Given the description of an element on the screen output the (x, y) to click on. 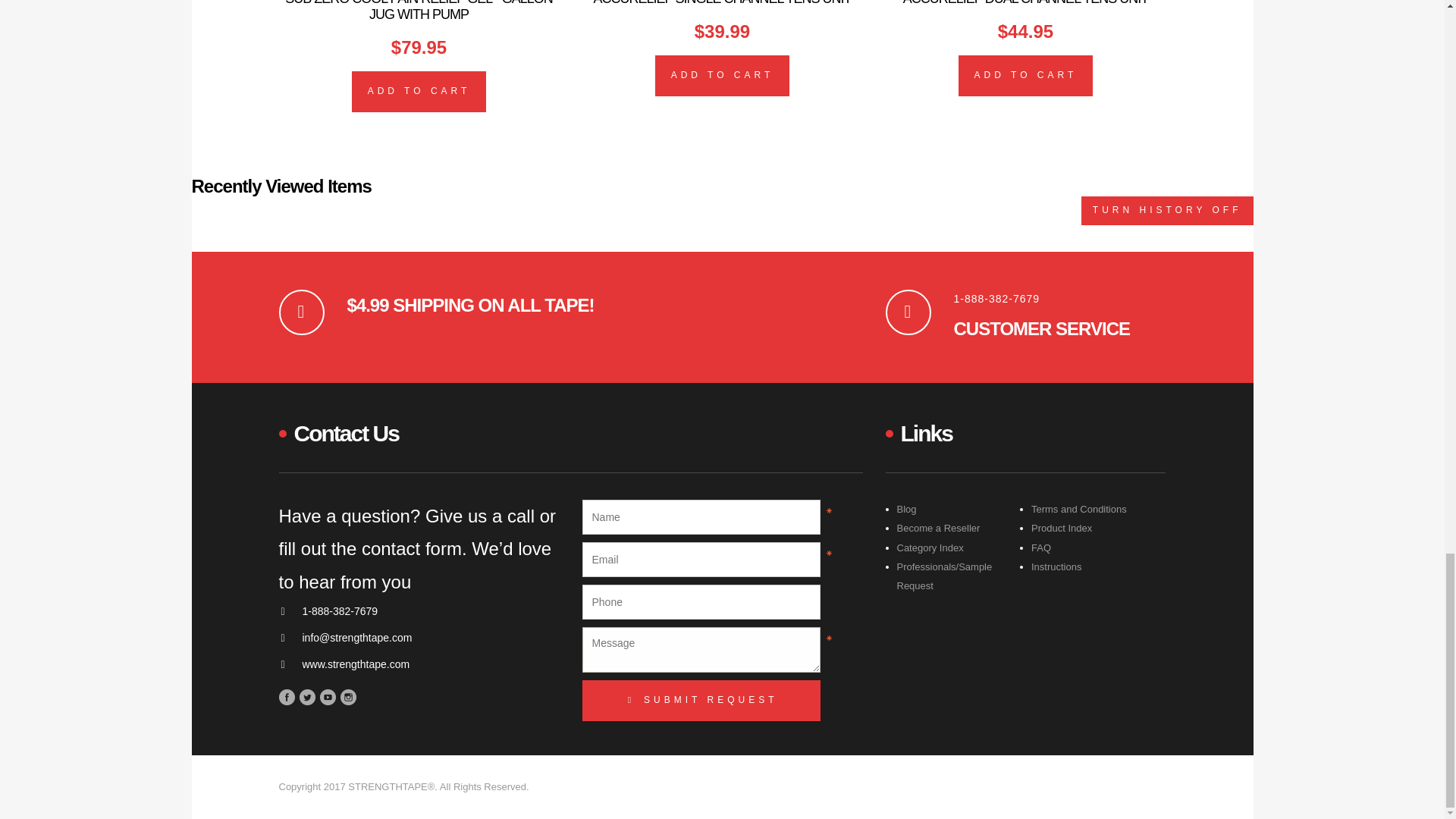
Add To Cart (419, 91)
Add To Cart (722, 75)
Turn History Off (1167, 210)
Add To Cart (1025, 75)
Subscribe to Our Channel (328, 697)
Follow Us on Twitter (306, 697)
Like Us on Facebook (287, 697)
Follow Us on Instagram (347, 697)
